Given the description of an element on the screen output the (x, y) to click on. 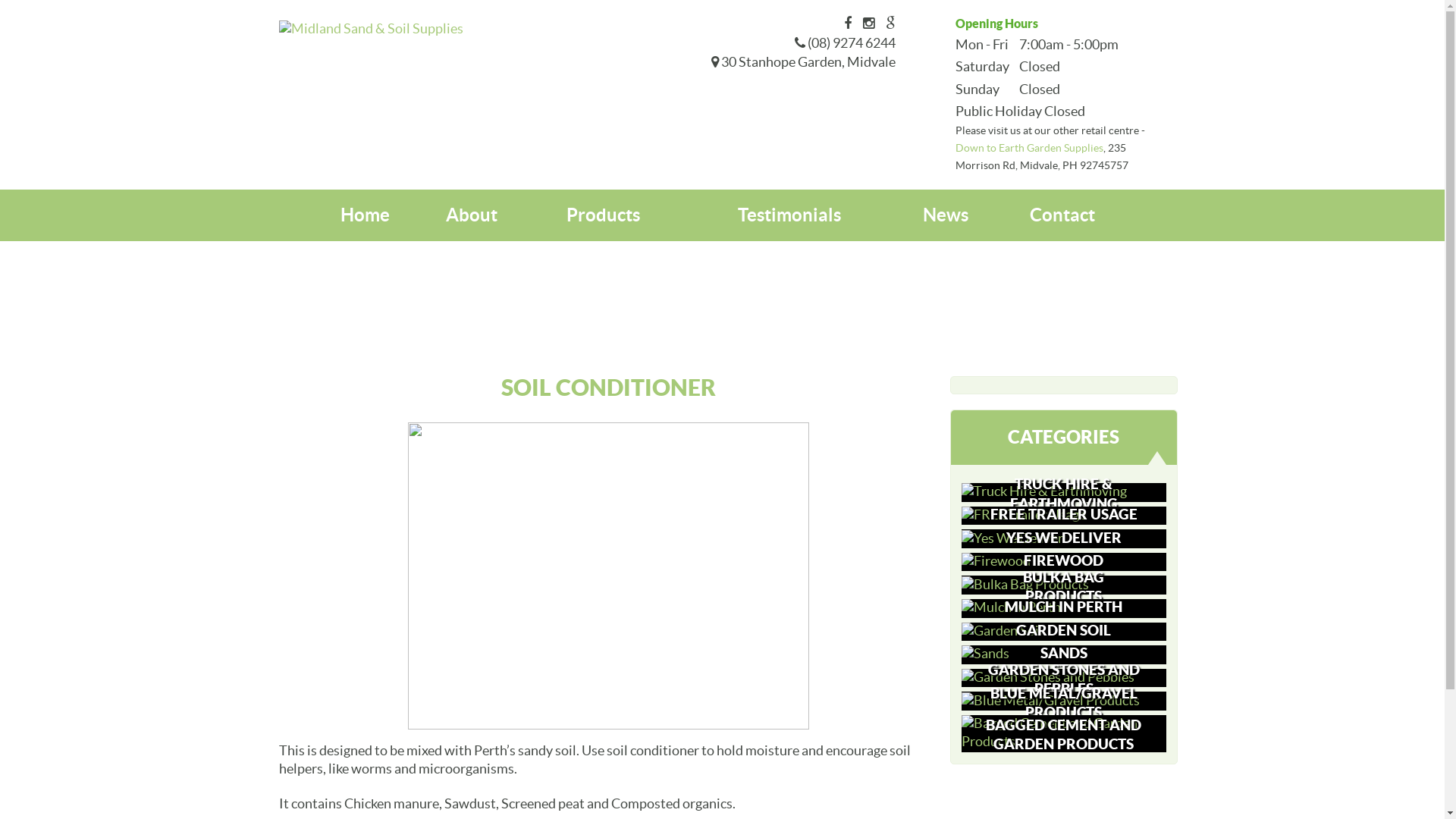
BAGGED CEMENT AND GARDEN PRODUCTS Element type: text (1063, 733)
FIREWOOD Element type: text (1063, 561)
MULCH IN PERTH Element type: text (1063, 608)
(08) 9274 6244 Element type: text (850, 43)
BLUE METAL/GRAVEL PRODUCTS Element type: text (1063, 701)
TRUCK HIRE & EARTHMOVING Element type: text (1063, 492)
GARDEN SOIL Element type: text (1063, 630)
SANDS Element type: text (1063, 654)
GARDEN STONES AND PEBBLES Element type: text (1063, 678)
About Element type: text (471, 214)
Down to Earth Garden Supplies Element type: text (1029, 148)
YES WE DELIVER Element type: text (1063, 538)
Midland Sand & Soil Supplies Element type: hover (371, 28)
BULKA BAG PRODUCTS Element type: text (1063, 584)
Products Element type: text (603, 214)
Contact Element type: text (1061, 214)
Testimonials Element type: text (788, 214)
FREE TRAILER USAGE Element type: text (1063, 514)
News Element type: text (945, 214)
Home Element type: text (365, 214)
